Given the description of an element on the screen output the (x, y) to click on. 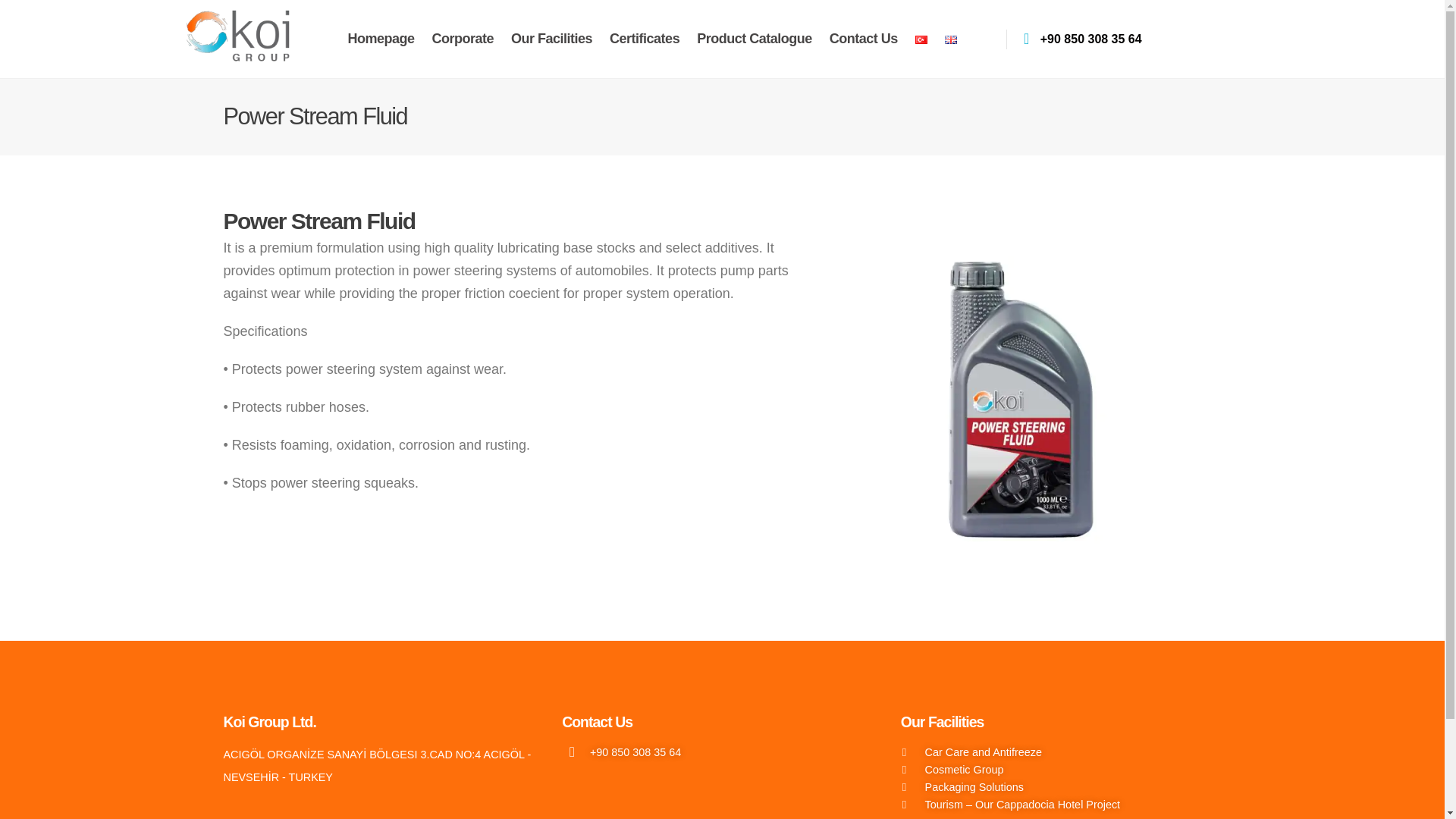
Our Facilities (551, 38)
Corporate (463, 38)
Homepage (380, 38)
Certificates (644, 38)
Packaging Solutions (1061, 786)
Contact Us (863, 38)
Car Care and Antifreeze (1061, 752)
Product Catalogue (754, 38)
Cosmetic Group (1061, 769)
